Given the description of an element on the screen output the (x, y) to click on. 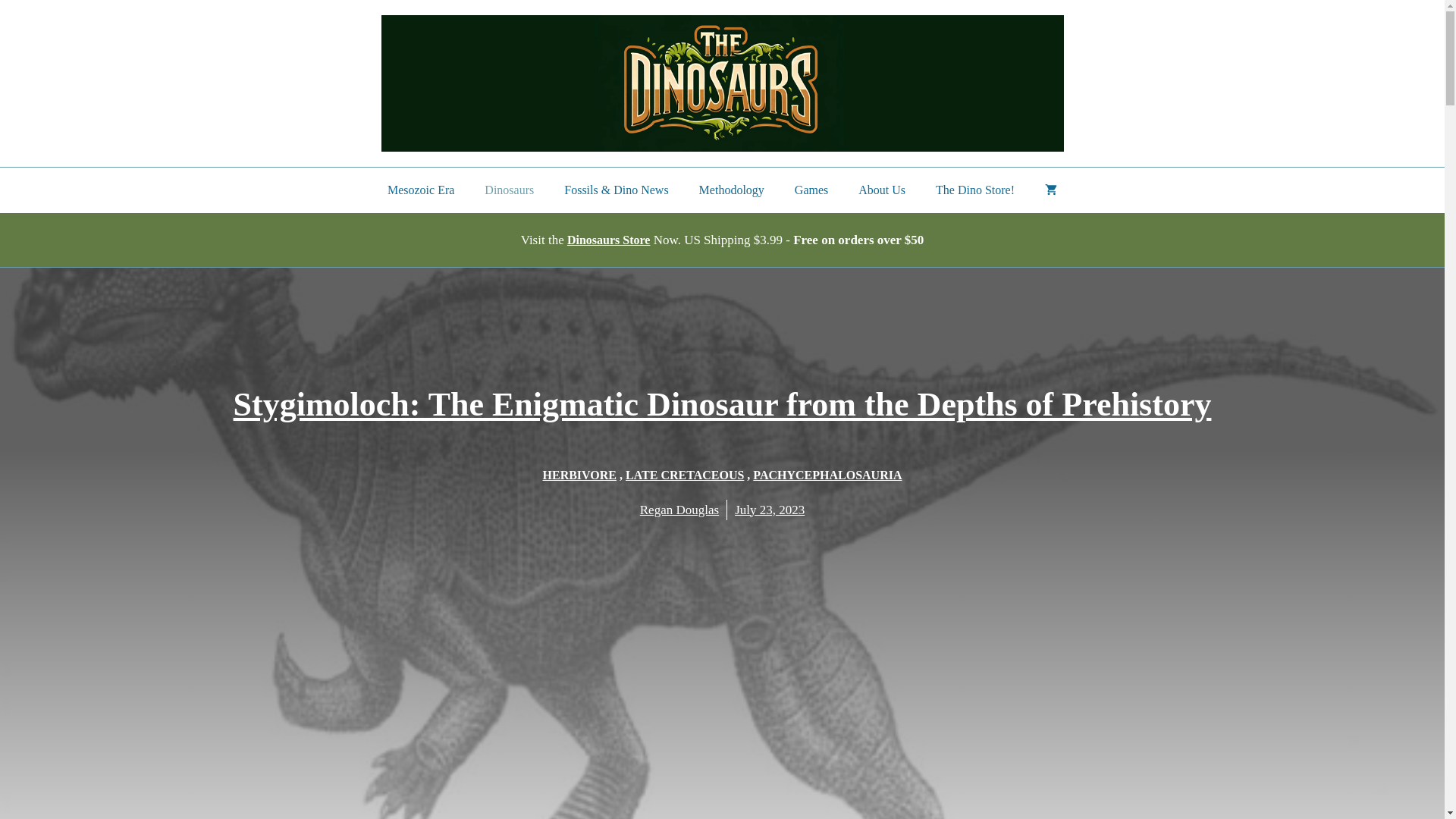
Mesozoic Era (420, 189)
July 23, 2023 (770, 509)
Dinosaurs Store (608, 240)
HERBIVORE (579, 474)
PACHYCEPHALOSAURIA (826, 474)
About Us (881, 189)
Games (810, 189)
Methodology (731, 189)
Dinosaurs (508, 189)
